Given the description of an element on the screen output the (x, y) to click on. 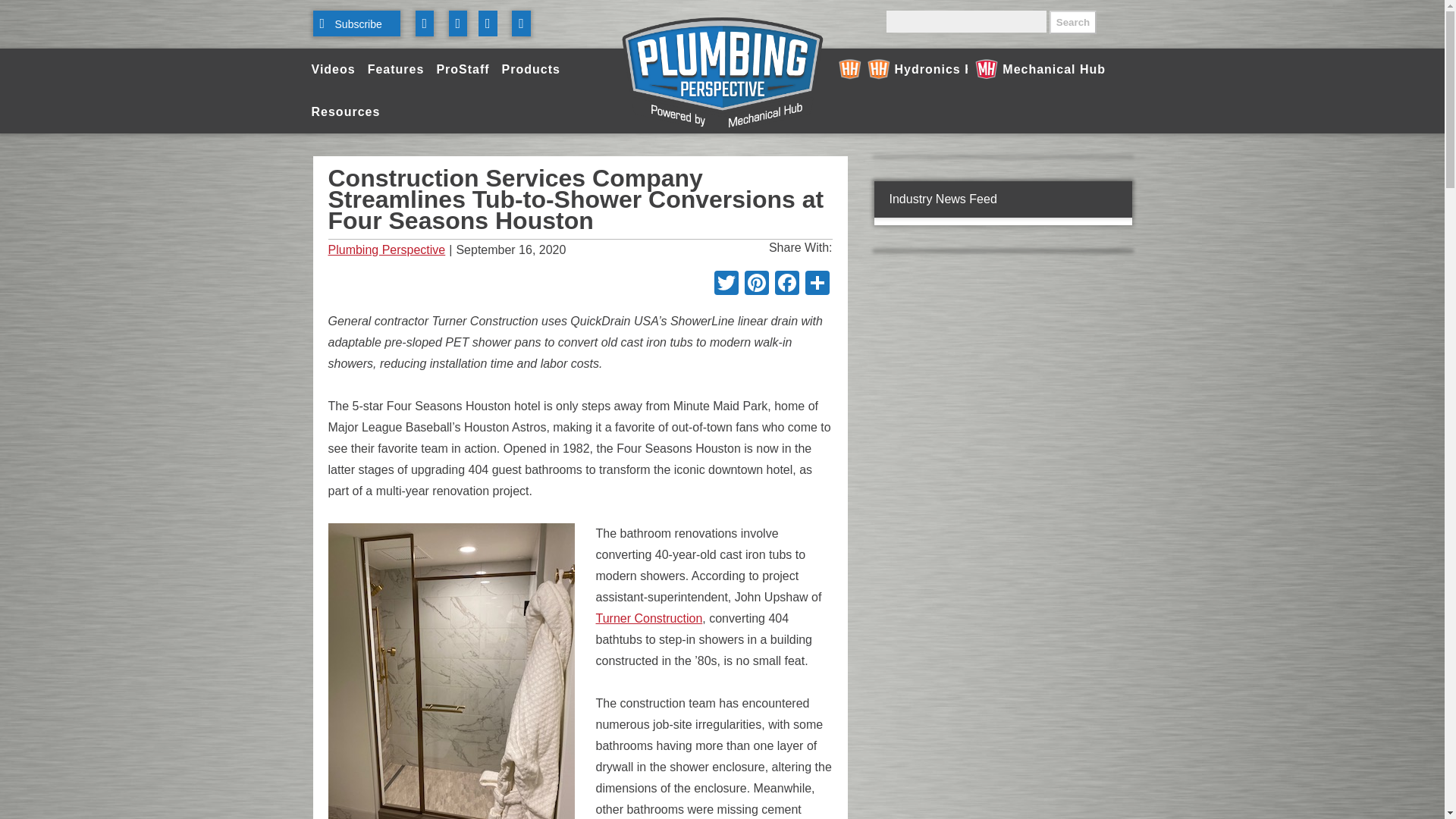
Videos (332, 69)
Plumbing Perspective (386, 250)
Hydronics Hub (899, 69)
Twitter (726, 284)
Mechanical Hub (1040, 69)
Facebook (786, 284)
Pinterest (756, 284)
Pinterest (756, 284)
2020-09-16 (579, 250)
Features (395, 69)
Share (817, 284)
Resources (344, 111)
Products (531, 69)
Turner Construction (649, 617)
visit the home page (722, 73)
